Given the description of an element on the screen output the (x, y) to click on. 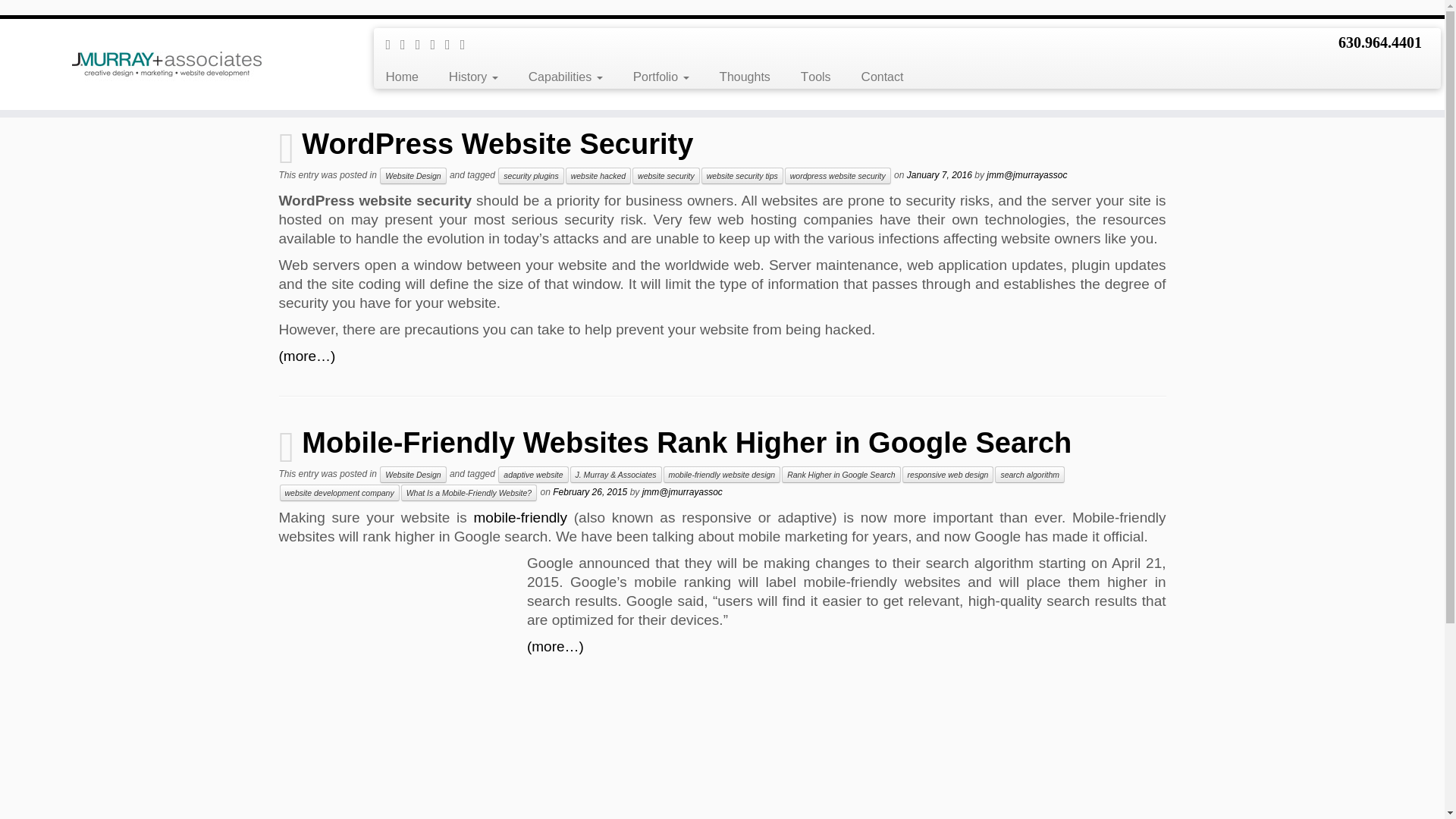
Portfolio (660, 77)
Marketing Blog Posts (368, 22)
WordPress Website Security (497, 143)
Subscribe to my rss feed (392, 44)
Thoughts (745, 77)
Contact (874, 77)
Follow me on Youtube (452, 44)
Marketing Capabilities (565, 77)
History (473, 77)
Website Design (412, 175)
Follow me on LinkedIn (468, 44)
Home (406, 77)
Follow me on Twitter (407, 44)
Tools (815, 77)
Capabilities (565, 77)
